Given the description of an element on the screen output the (x, y) to click on. 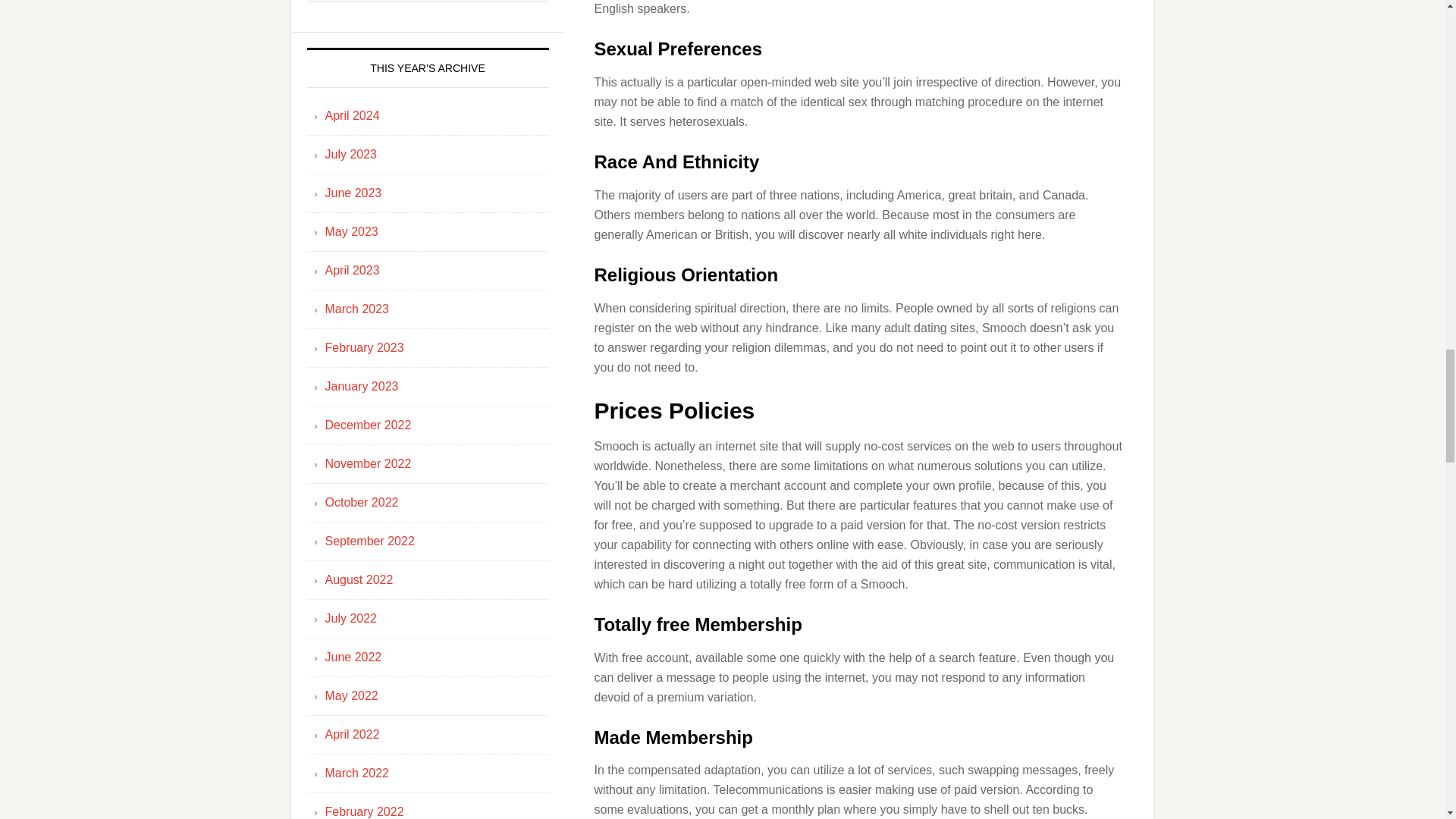
April 2023 (351, 269)
June 2023 (352, 192)
May 2023 (350, 231)
July 2023 (350, 154)
April 2024 (351, 115)
